Given the description of an element on the screen output the (x, y) to click on. 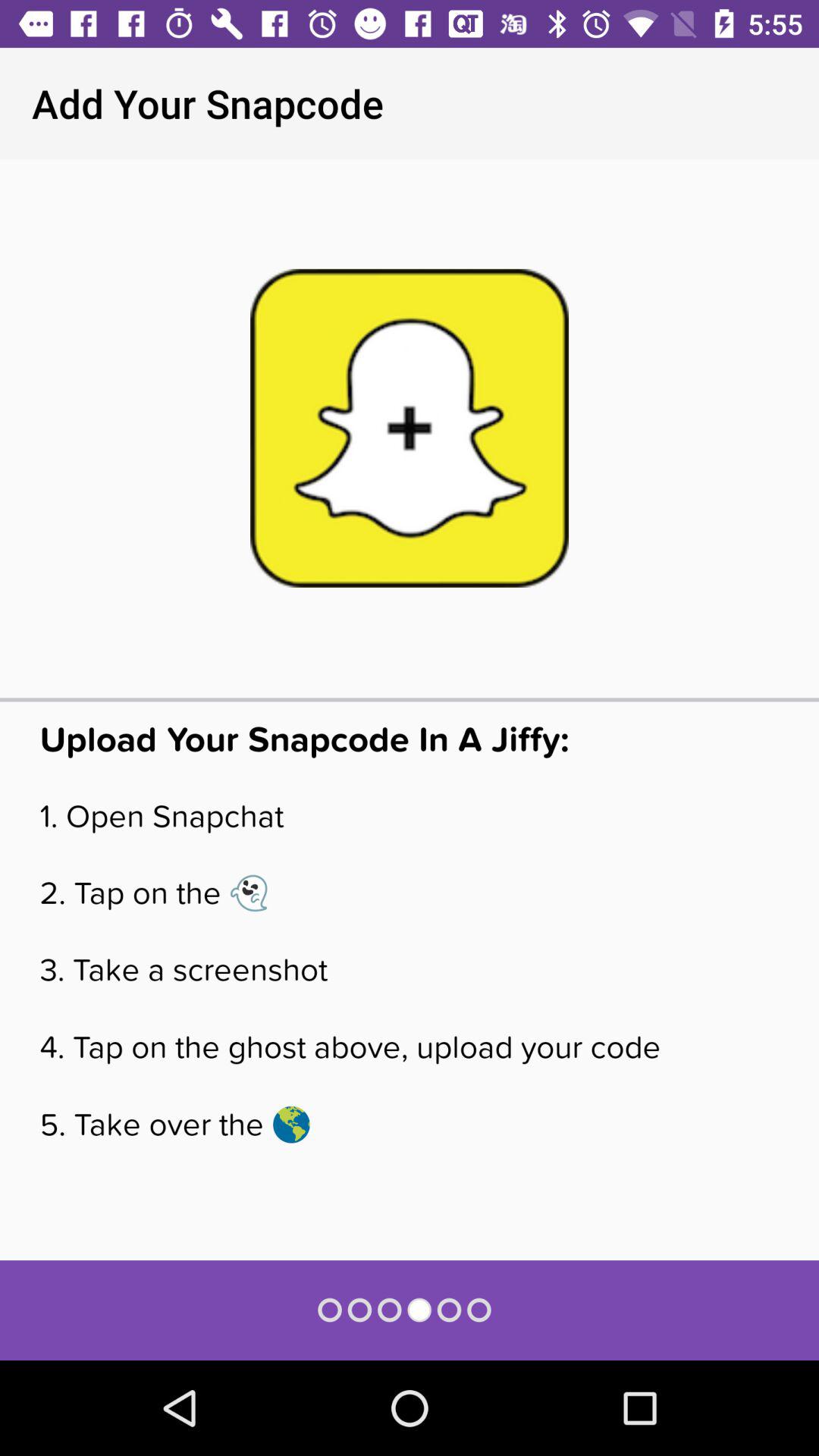
launch item below add your snapcode (409, 428)
